Given the description of an element on the screen output the (x, y) to click on. 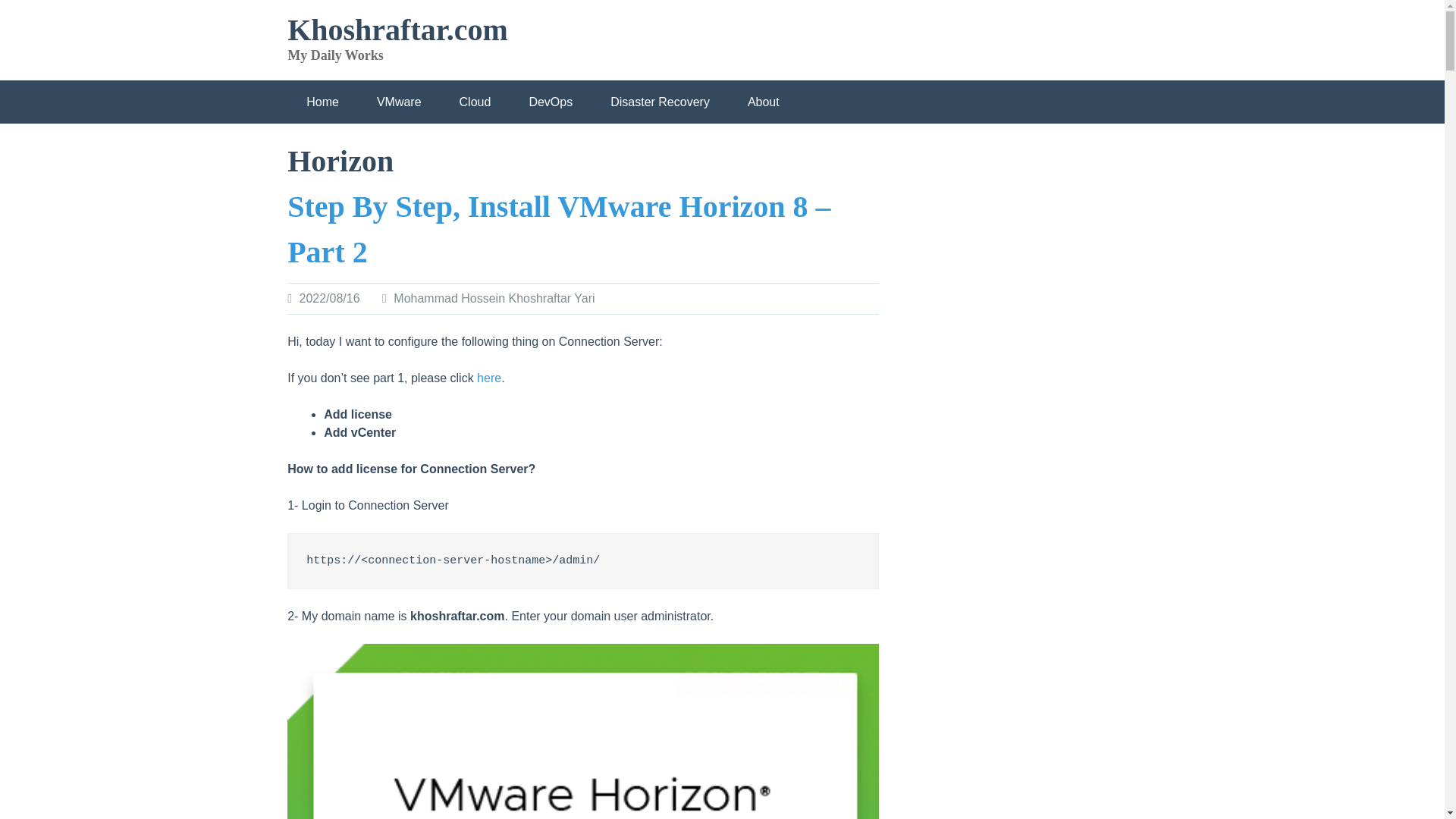
Khoshraftar.com (397, 29)
VMware (399, 101)
Disaster Recovery (660, 101)
Cloud (476, 101)
DevOps (550, 101)
Mohammad Hossein Khoshraftar Yari (493, 297)
Home (322, 101)
here (488, 377)
About (763, 101)
